Given the description of an element on the screen output the (x, y) to click on. 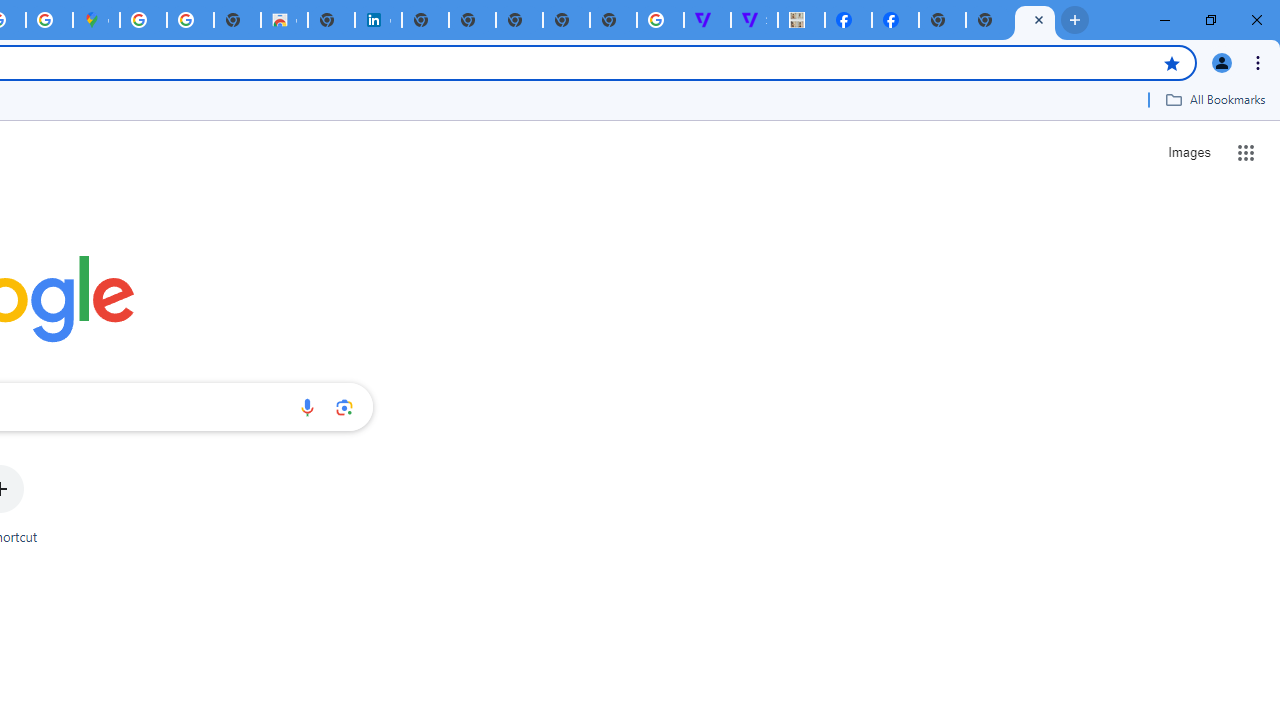
Streaming - The Verge (754, 20)
MILEY CYRUS. (801, 20)
Miley Cyrus | Facebook (895, 20)
Cookie Policy | LinkedIn (377, 20)
Google Maps (96, 20)
New Tab (942, 20)
